Given the description of an element on the screen output the (x, y) to click on. 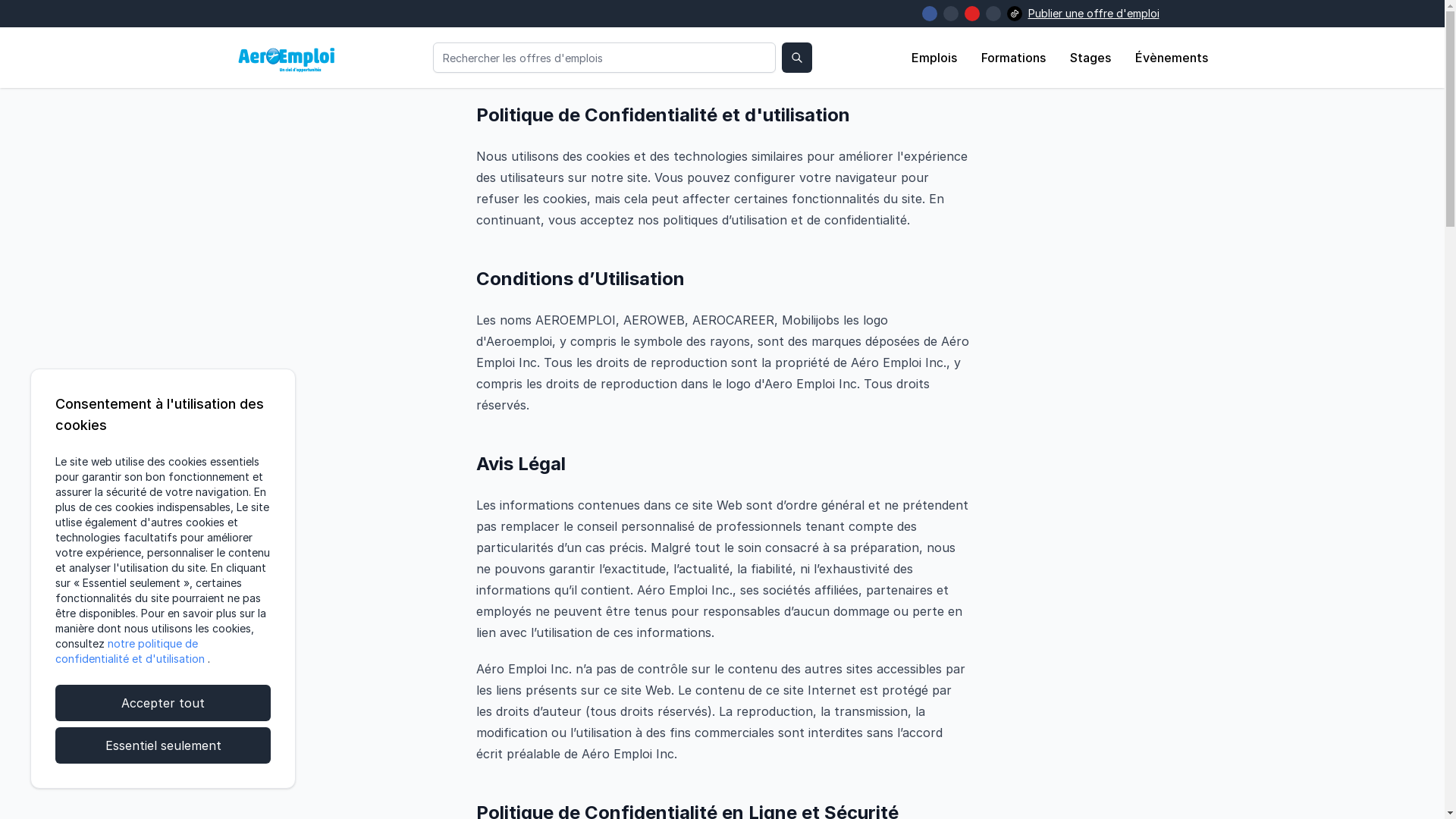
Rechercher Element type: text (796, 57)
Emplois Element type: text (934, 57)
Publier une offre d'emploi Element type: text (1093, 13)
Accepter tout Element type: text (162, 702)
Essentiel seulement Element type: text (162, 745)
Formations Element type: text (1013, 57)
Stages Element type: text (1089, 57)
